Given the description of an element on the screen output the (x, y) to click on. 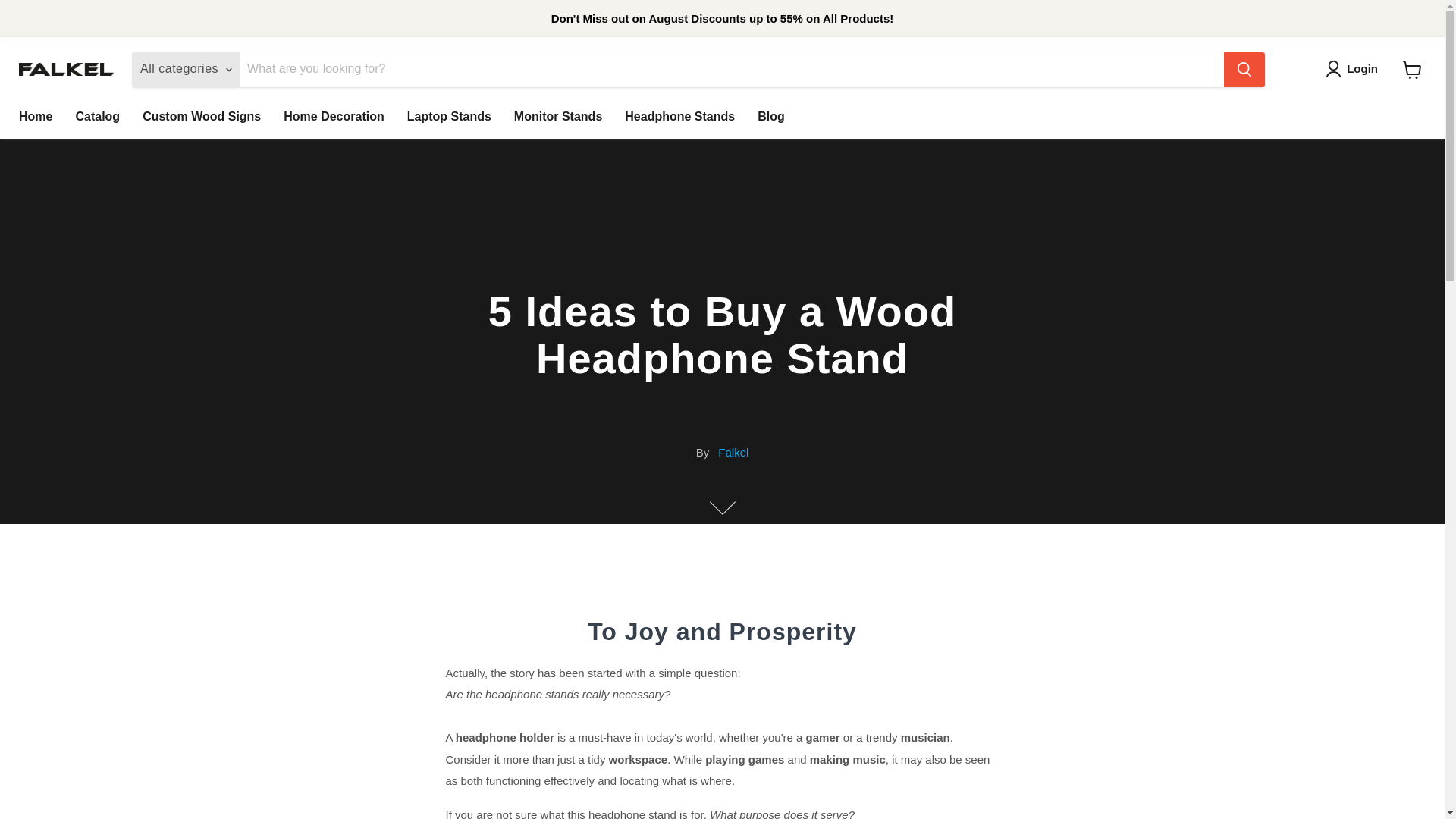
Falkel (732, 451)
Custom Wood Signs (201, 115)
Headphone Stands (678, 115)
Blog (770, 115)
Login (1362, 69)
Monitor Stands (557, 115)
Home Decoration (333, 115)
Laptop Stands (449, 115)
Home (35, 115)
View cart (1411, 69)
